Given the description of an element on the screen output the (x, y) to click on. 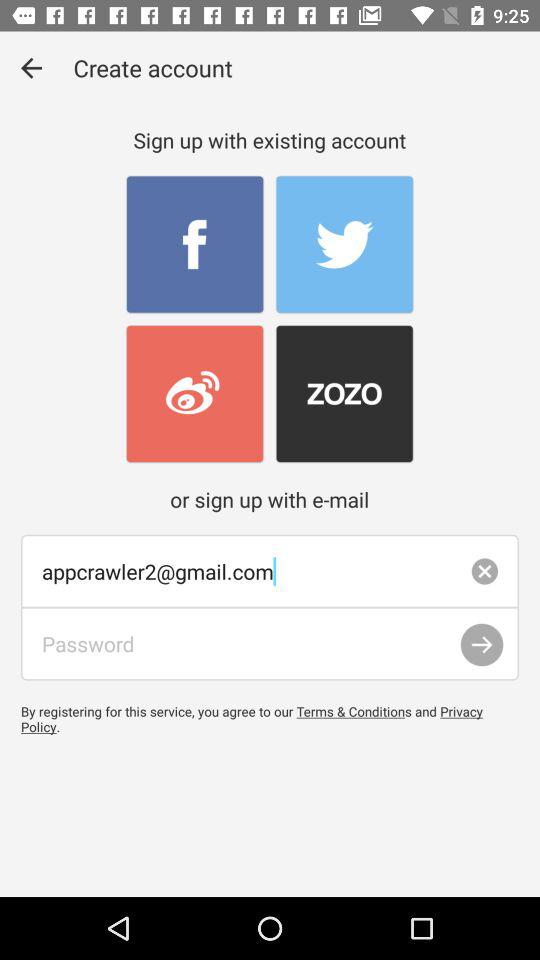
tap appcrawler2@gmail.com item (270, 571)
